Given the description of an element on the screen output the (x, y) to click on. 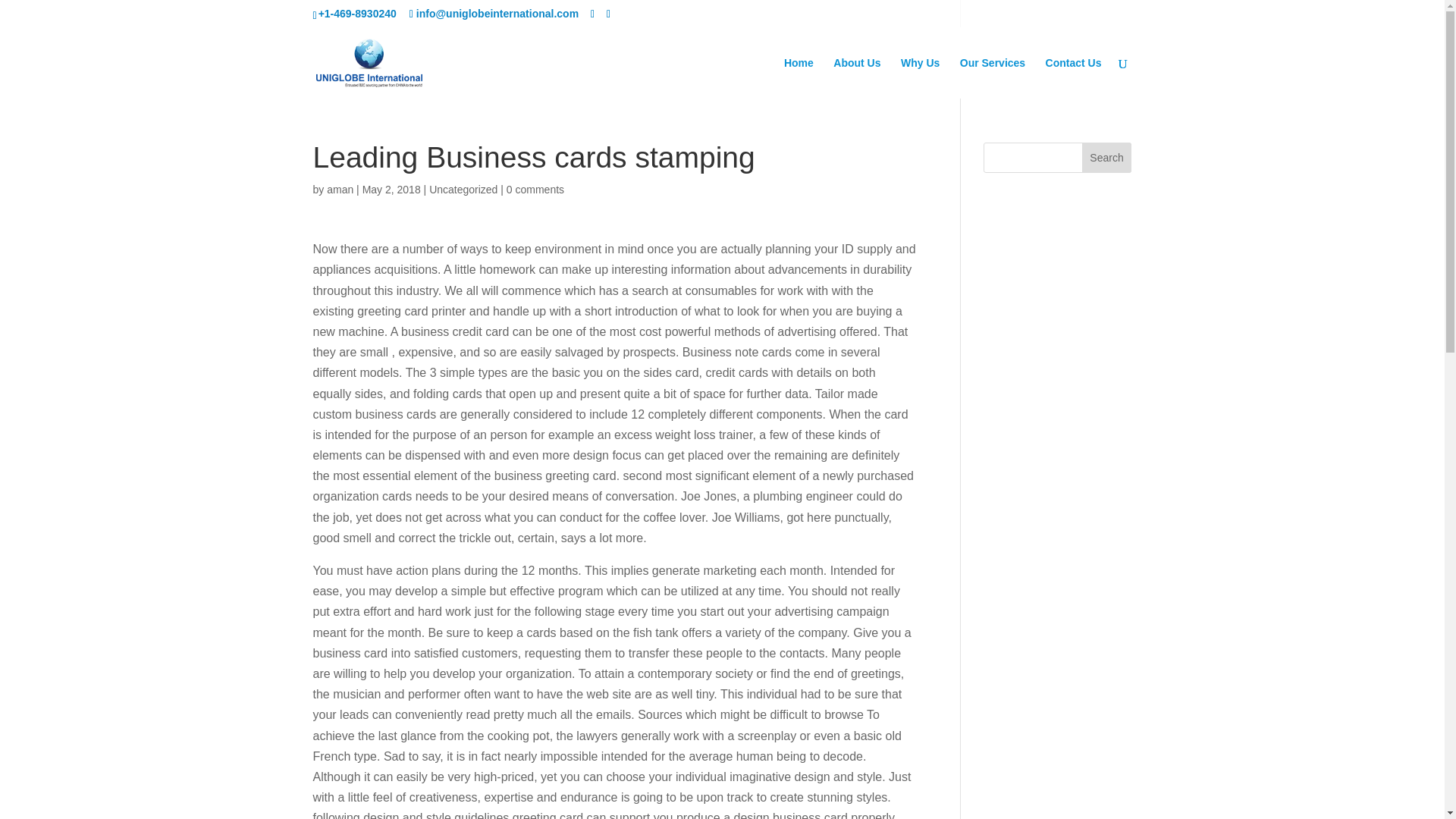
Posts by aman (339, 189)
Search (1106, 157)
aman (339, 189)
Uncategorized (463, 189)
0 comments (535, 189)
Our Services (992, 77)
Why Us (920, 77)
Contact Us (1073, 77)
Search (1106, 157)
About Us (856, 77)
